Given the description of an element on the screen output the (x, y) to click on. 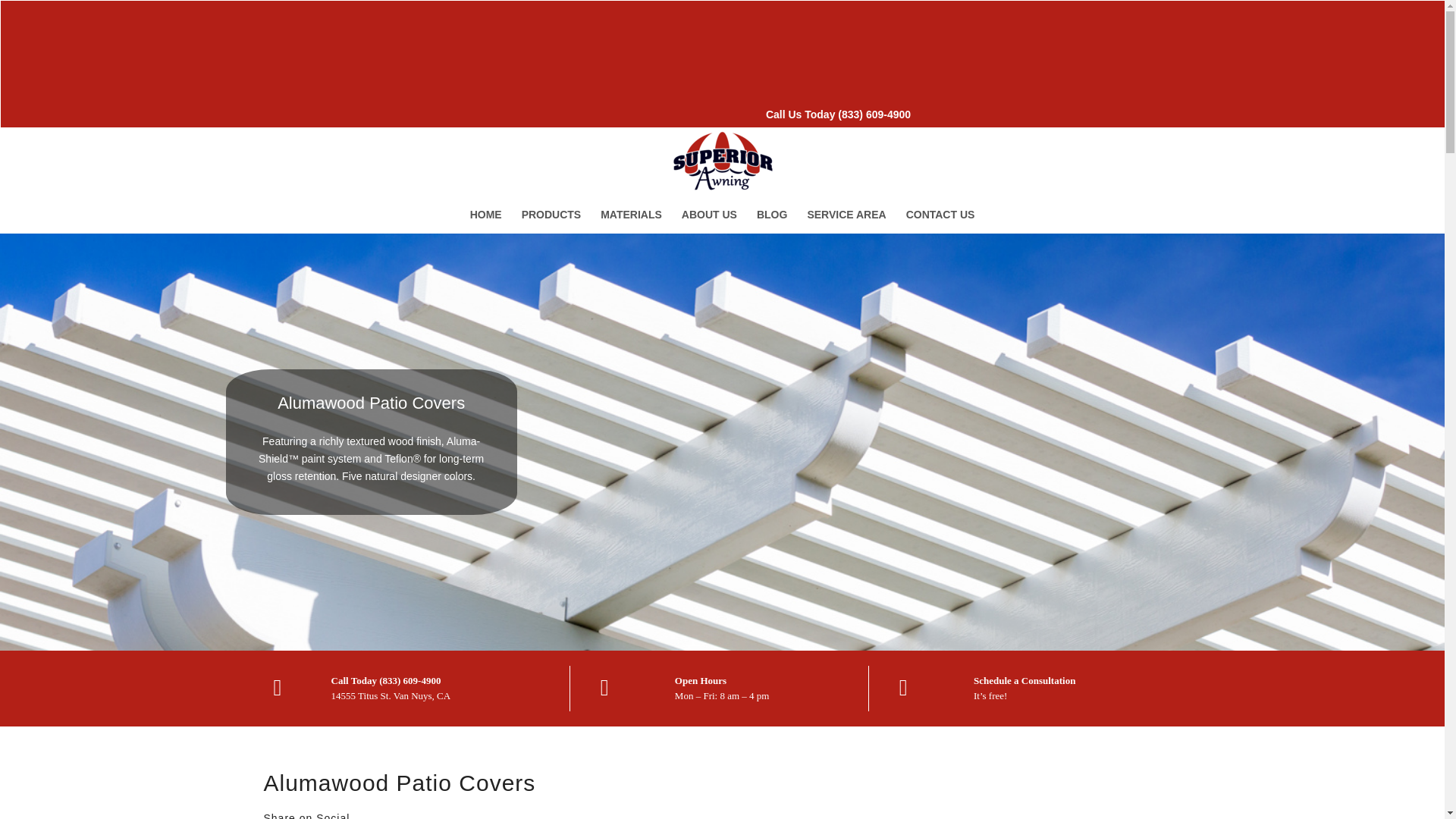
PRODUCTS (551, 214)
MATERIALS (631, 214)
HOME (486, 214)
